Given the description of an element on the screen output the (x, y) to click on. 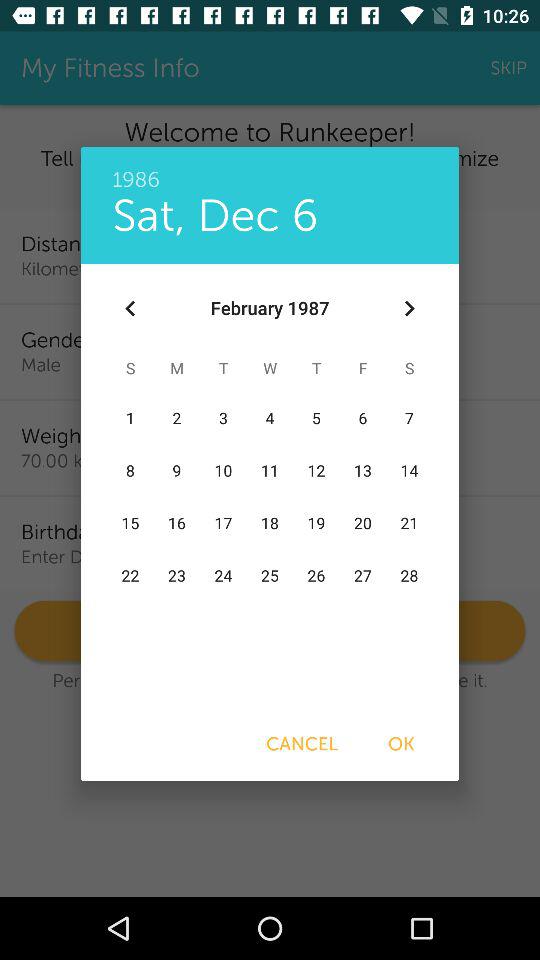
open item below the 1986 item (408, 308)
